Given the description of an element on the screen output the (x, y) to click on. 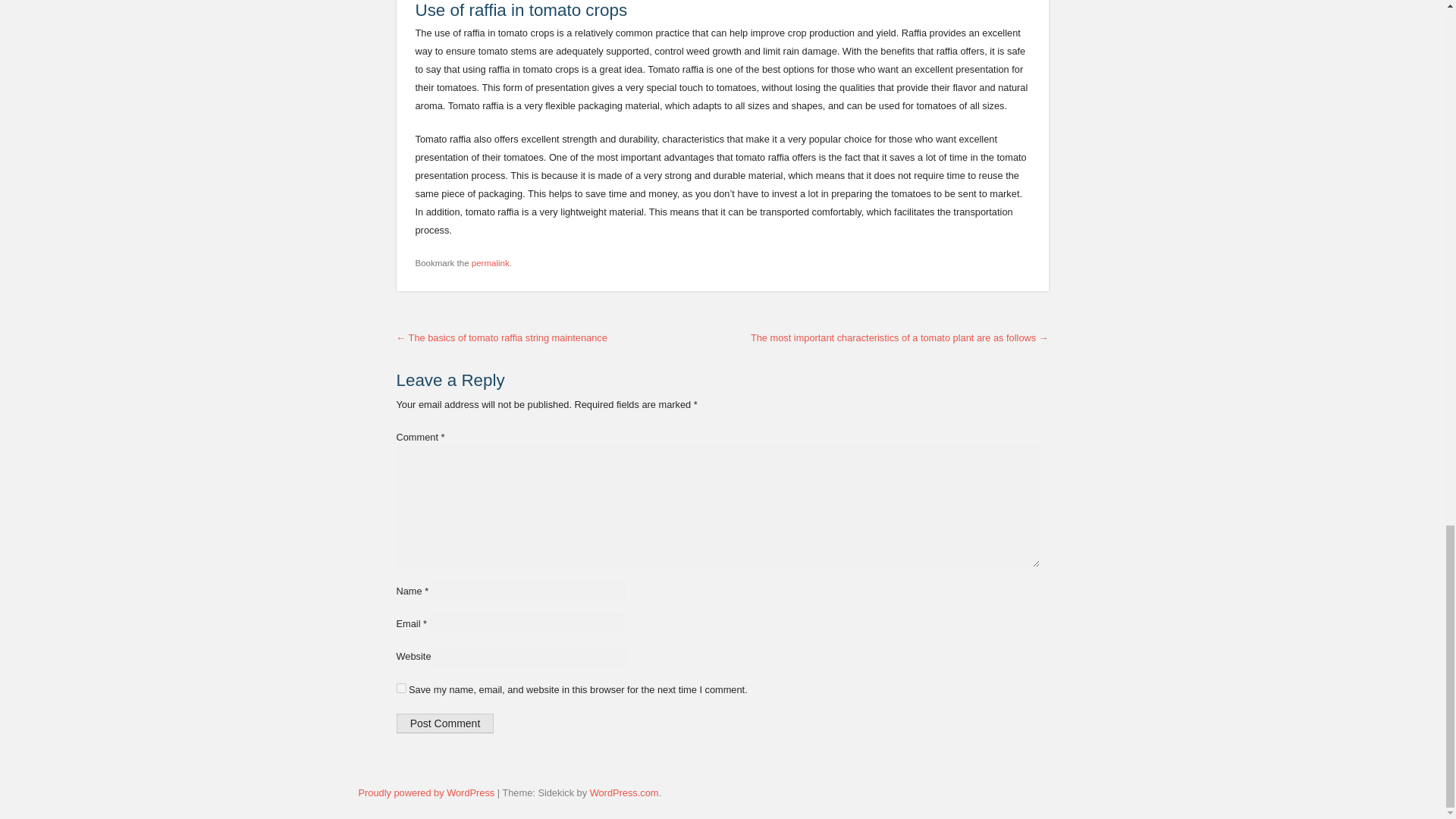
WordPress.com (624, 792)
Post Comment (444, 723)
A Semantic Personal Publishing Platform (426, 792)
yes (401, 687)
Proudly powered by WordPress (426, 792)
permalink (490, 262)
Post Comment (444, 723)
